Given the description of an element on the screen output the (x, y) to click on. 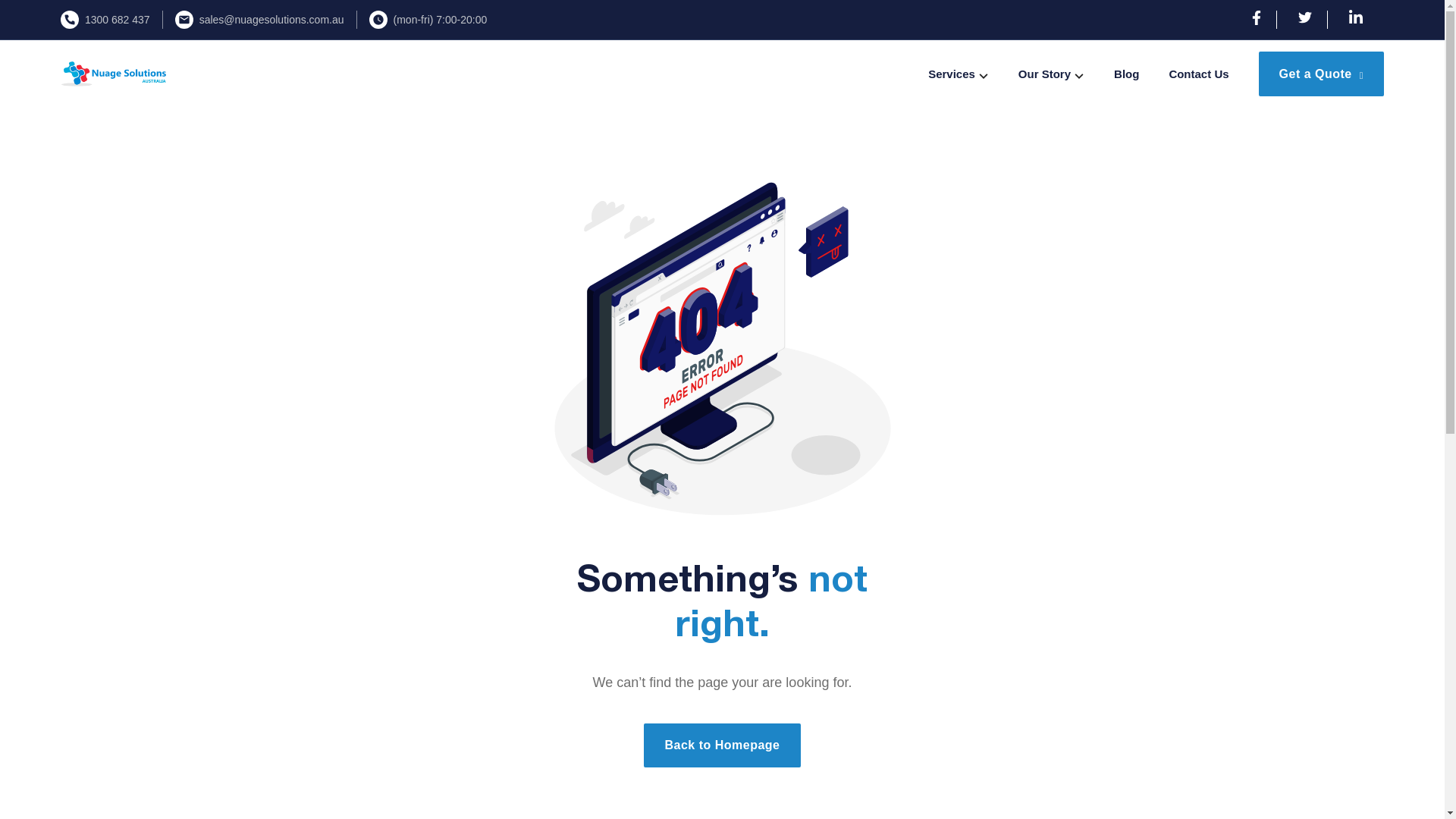
Back to Homepage Element type: text (721, 745)
sales@nuagesolutions.com.au Element type: text (271, 19)
1300 682 437 Element type: text (117, 19)
Contact Us Element type: text (1198, 74)
Blog Element type: text (1126, 74)
